Given the description of an element on the screen output the (x, y) to click on. 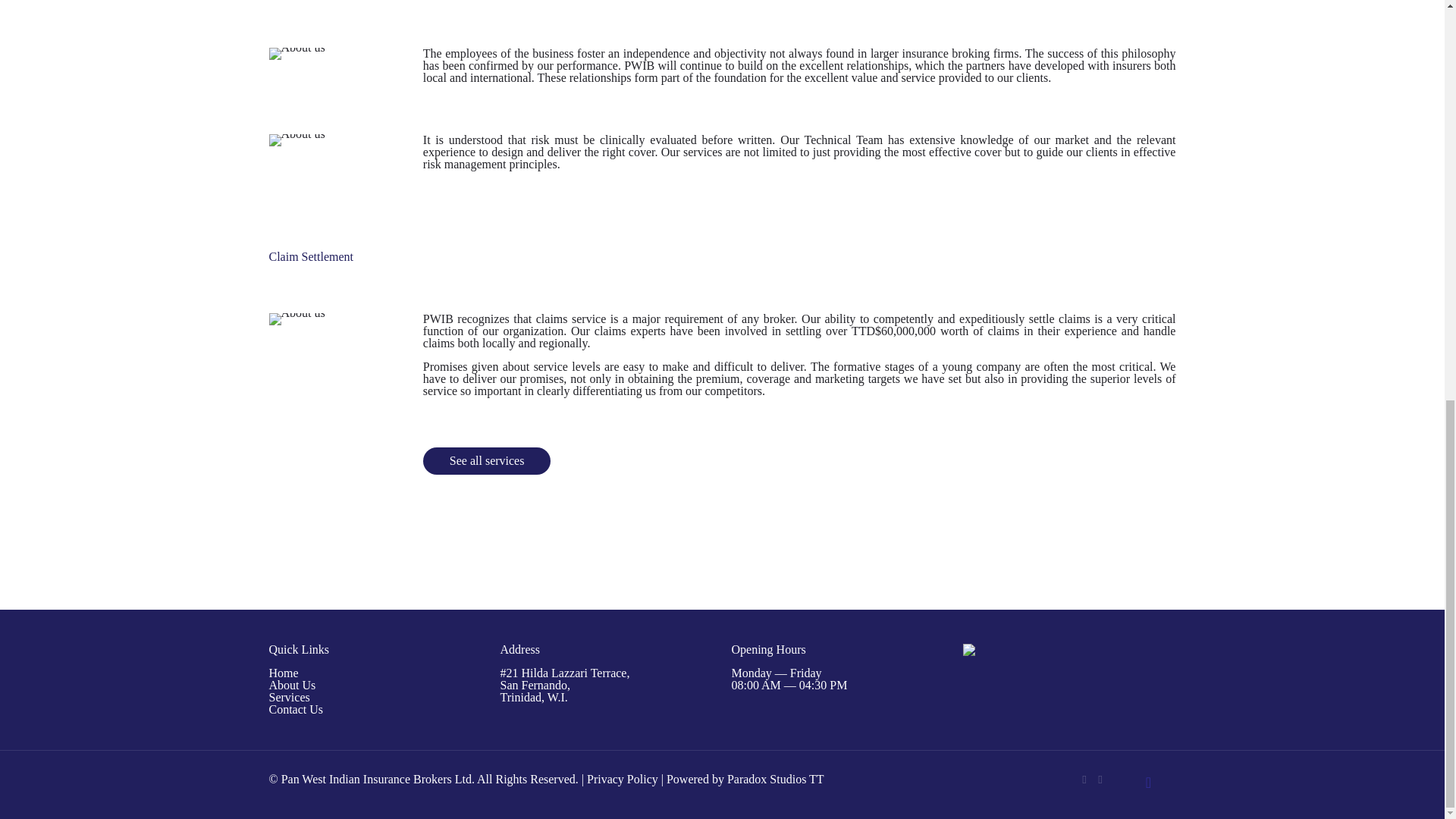
Paradox Studios TT (775, 779)
LinkedIn (1100, 779)
Contact Us (295, 708)
Services (287, 697)
About Us (291, 684)
See all services (487, 461)
Facebook (1083, 779)
Privacy Policy (622, 779)
Home (282, 672)
